Given the description of an element on the screen output the (x, y) to click on. 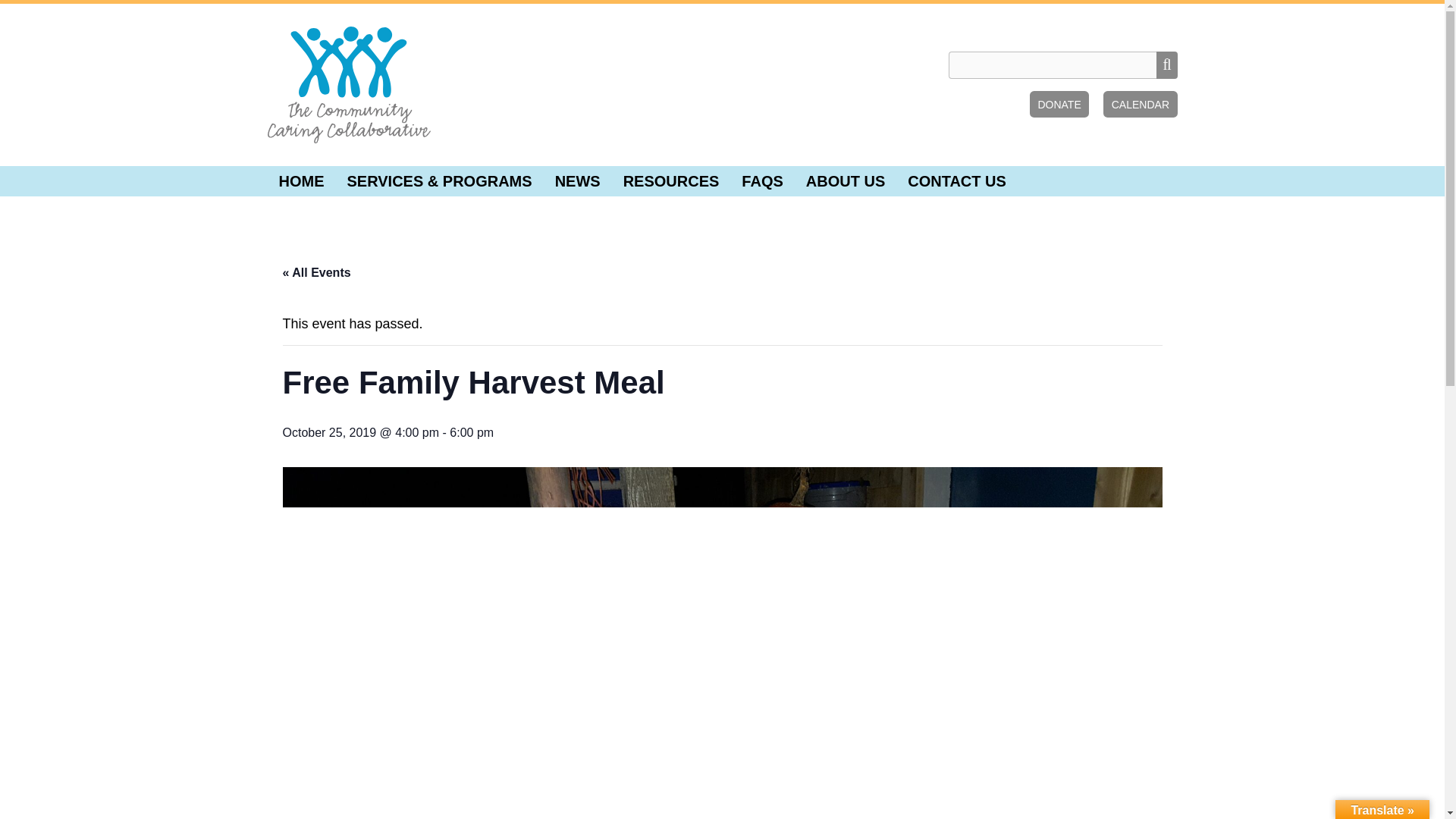
ABOUT US (845, 181)
DONATE (1059, 103)
CONTACT US (956, 181)
RESOURCES (670, 181)
HOME (300, 181)
CALENDAR (1139, 103)
The Community Caring Collaborative (347, 84)
ccc (347, 84)
NEWS (577, 181)
FAQS (761, 181)
